Given the description of an element on the screen output the (x, y) to click on. 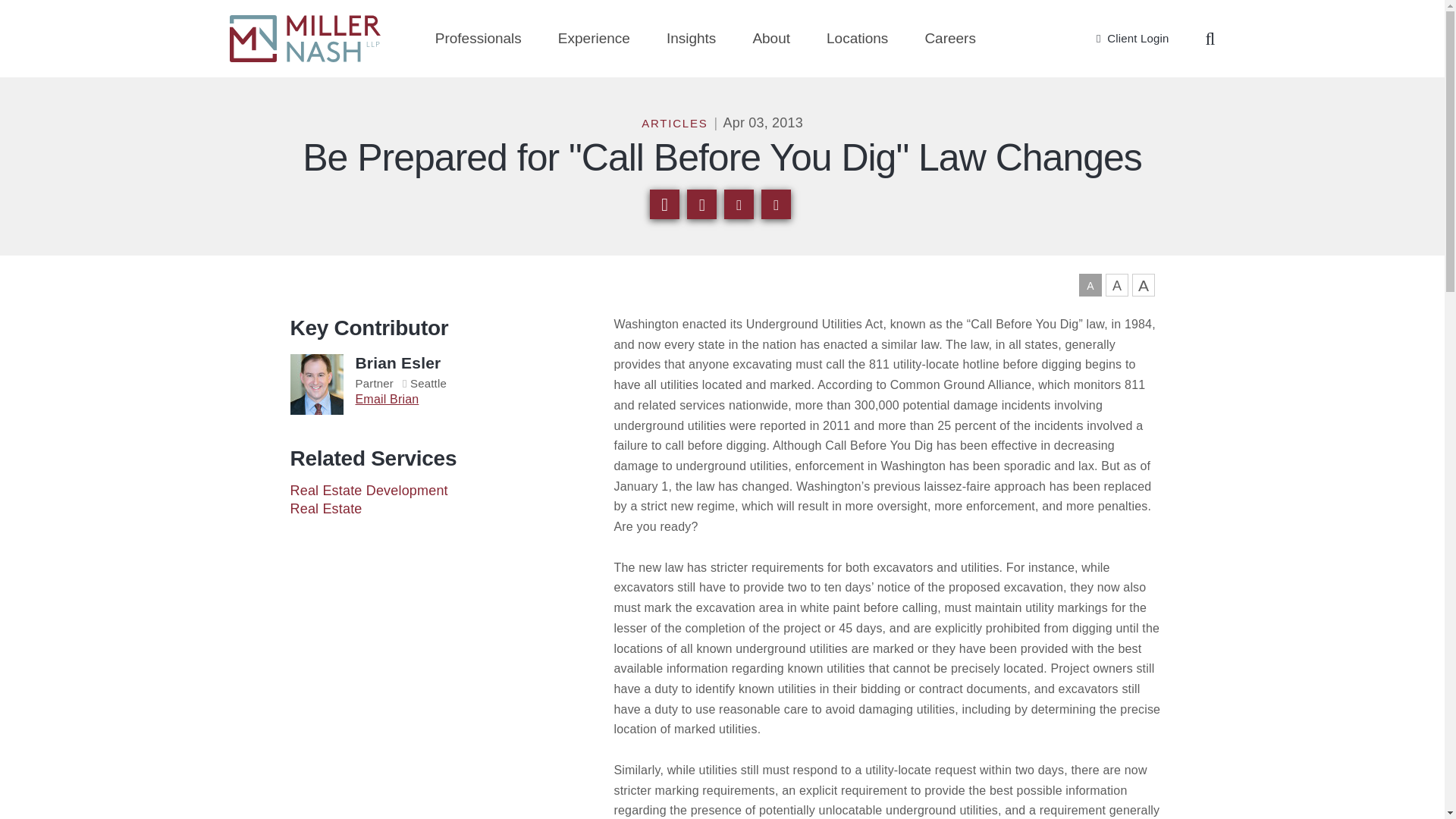
Share via Email (664, 204)
Share via Twitter (775, 204)
More Sharing Options (701, 204)
Adjust Text Size - Larger (1116, 284)
Share via LinkedIn (738, 204)
Adjust Text Size - Normal (1089, 284)
Adjust Text Size - Largest (1142, 284)
